Given the description of an element on the screen output the (x, y) to click on. 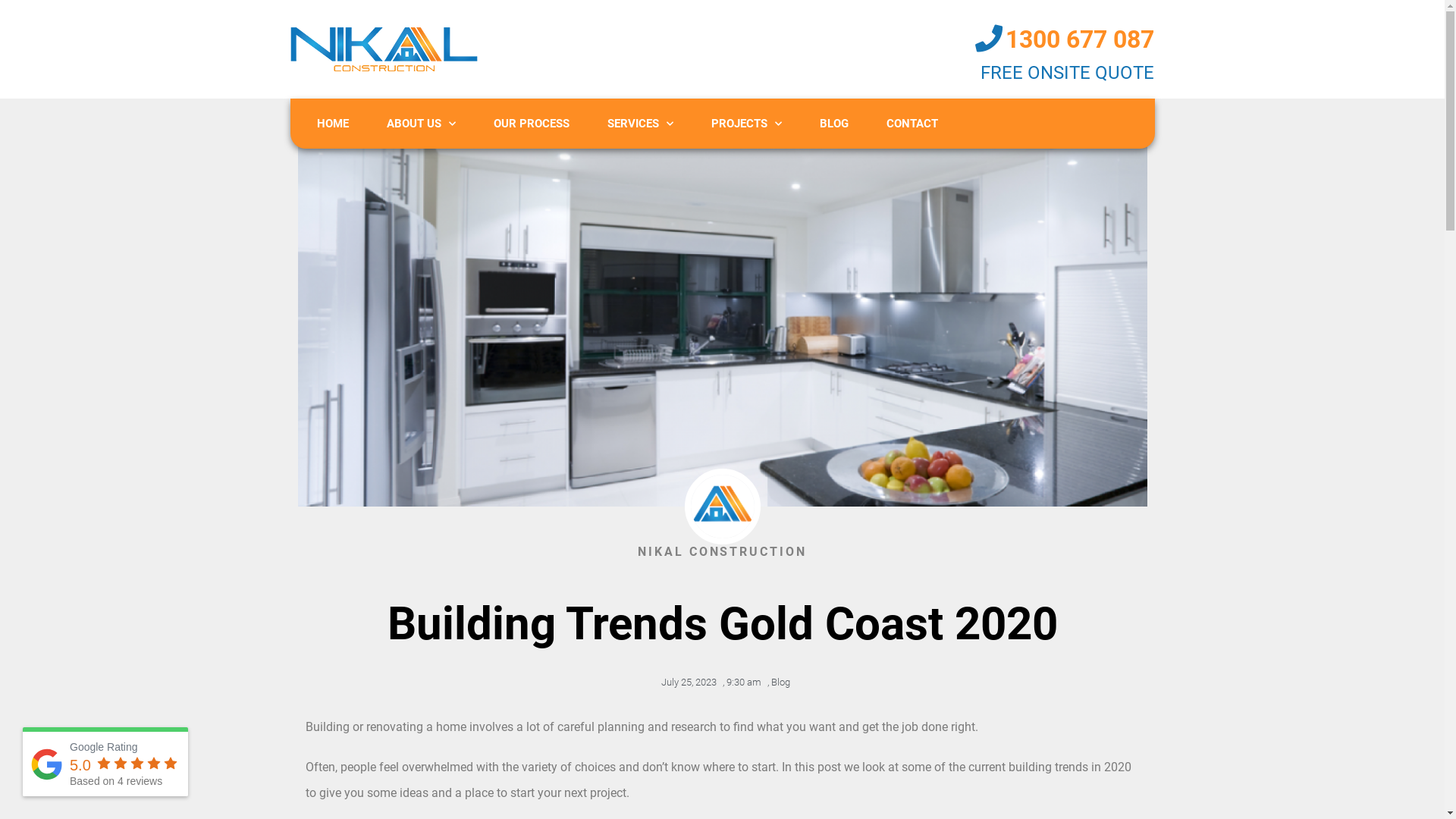
1300 677 087 Element type: text (1079, 39)
BLOG Element type: text (833, 123)
FREE ONSITE QUOTE Element type: text (1067, 72)
Blog Element type: text (779, 681)
SERVICES Element type: text (640, 123)
July 25, 2023 Element type: text (685, 682)
ABOUT US Element type: text (420, 123)
Building Trends Gold Coast 2020 Element type: hover (721, 320)
PROJECTS Element type: text (745, 123)
HOME Element type: text (332, 123)
CONTACT Element type: text (912, 123)
OUR PROCESS Element type: text (531, 123)
